Given the description of an element on the screen output the (x, y) to click on. 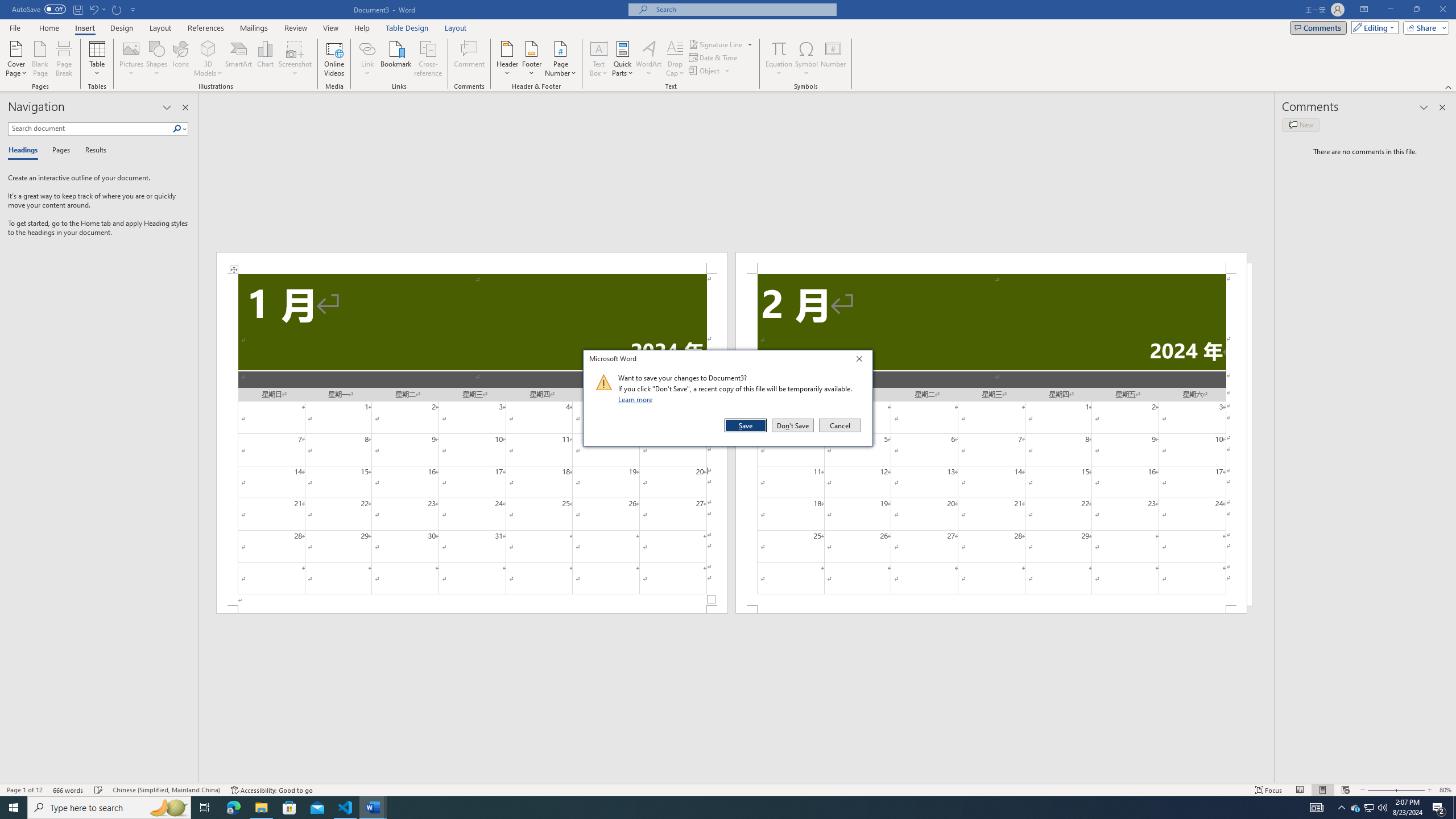
Object... (705, 69)
Equation (778, 48)
Screenshot (295, 58)
Online Videos... (333, 58)
Comment (469, 58)
